Given the description of an element on the screen output the (x, y) to click on. 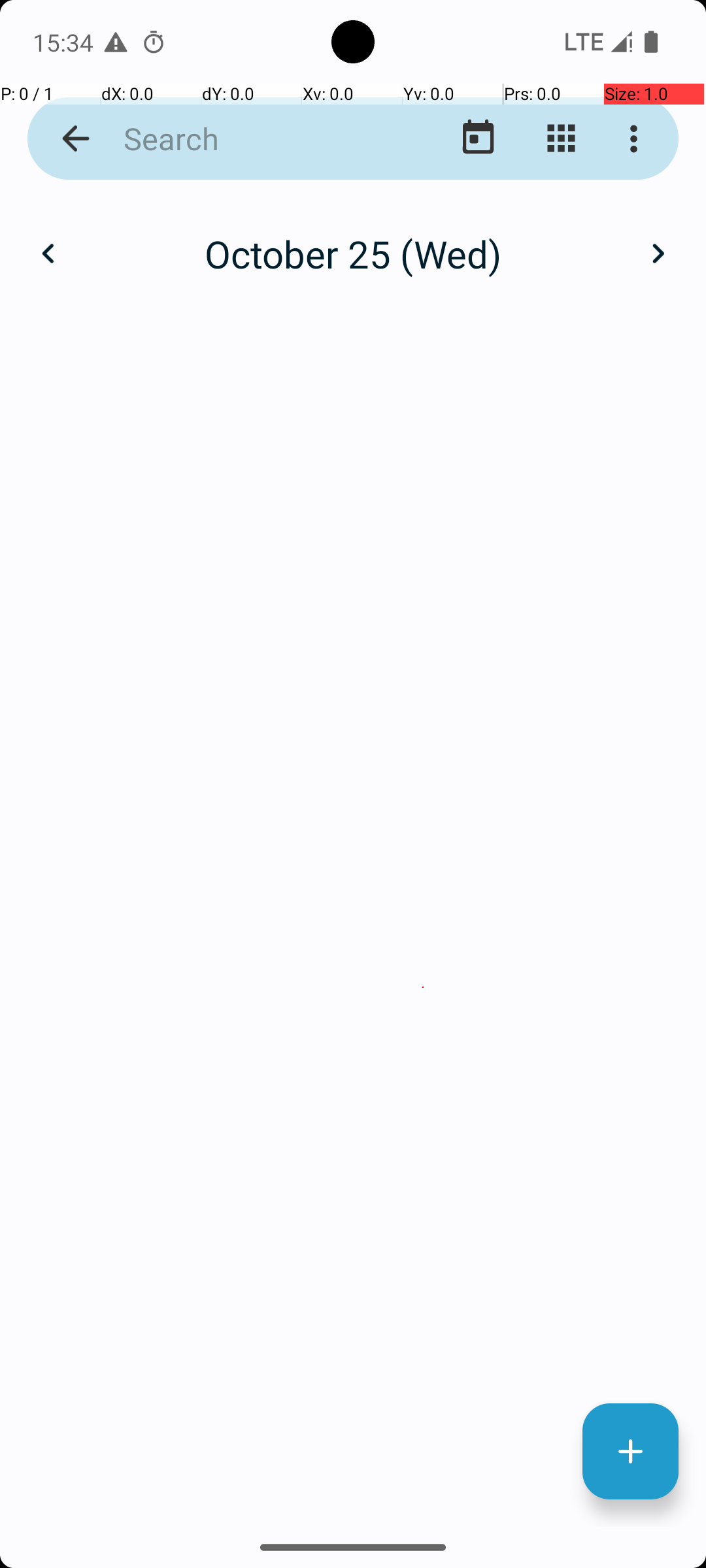
Go to today Element type: android.widget.Button (477, 138)
October 25 (Wed) Element type: android.widget.TextView (352, 253)
